Given the description of an element on the screen output the (x, y) to click on. 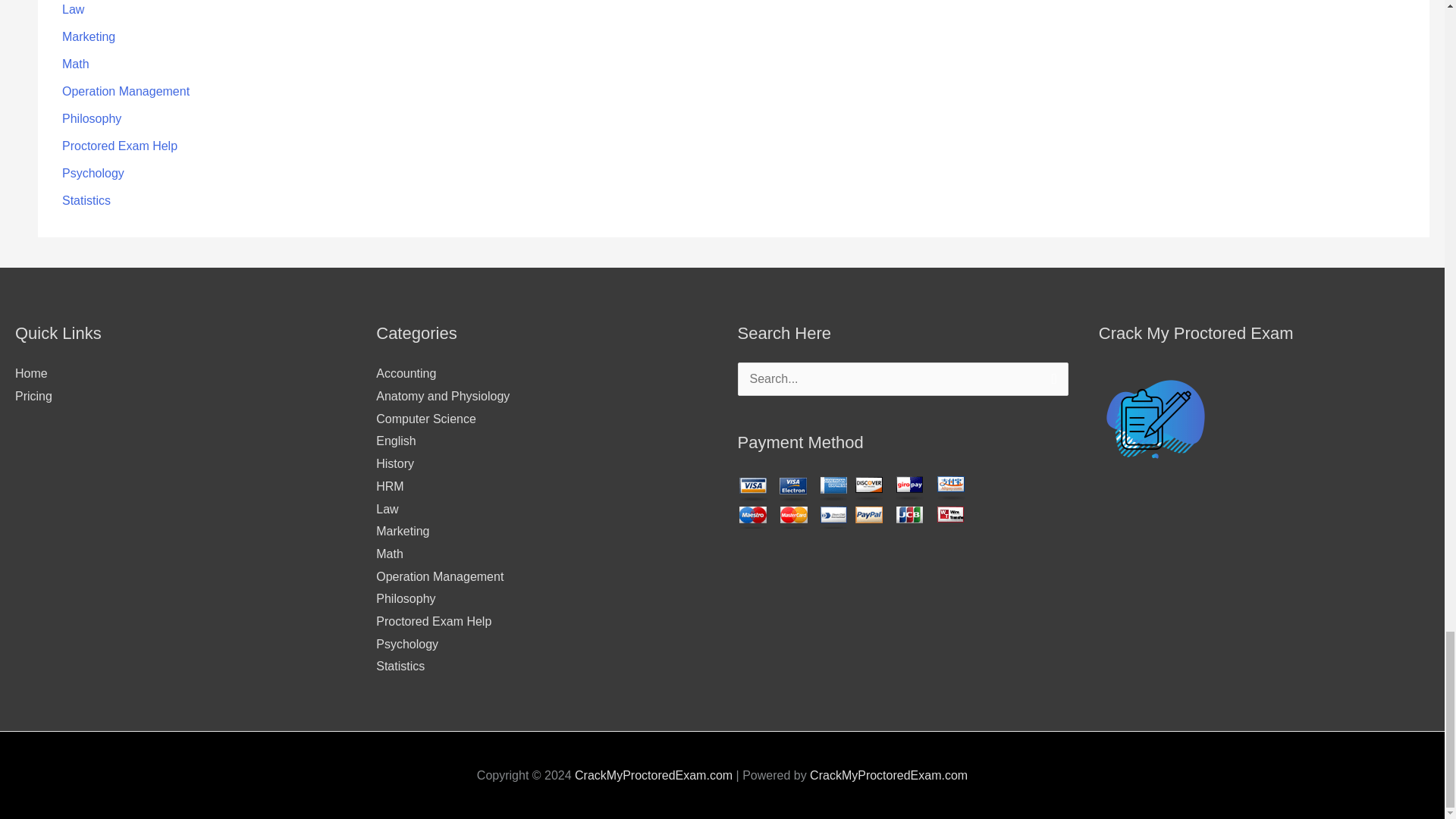
Proctored Exam Help (119, 145)
Operation Management (125, 91)
Law (73, 9)
Marketing (88, 36)
Math (75, 63)
Philosophy (91, 118)
